Given the description of an element on the screen output the (x, y) to click on. 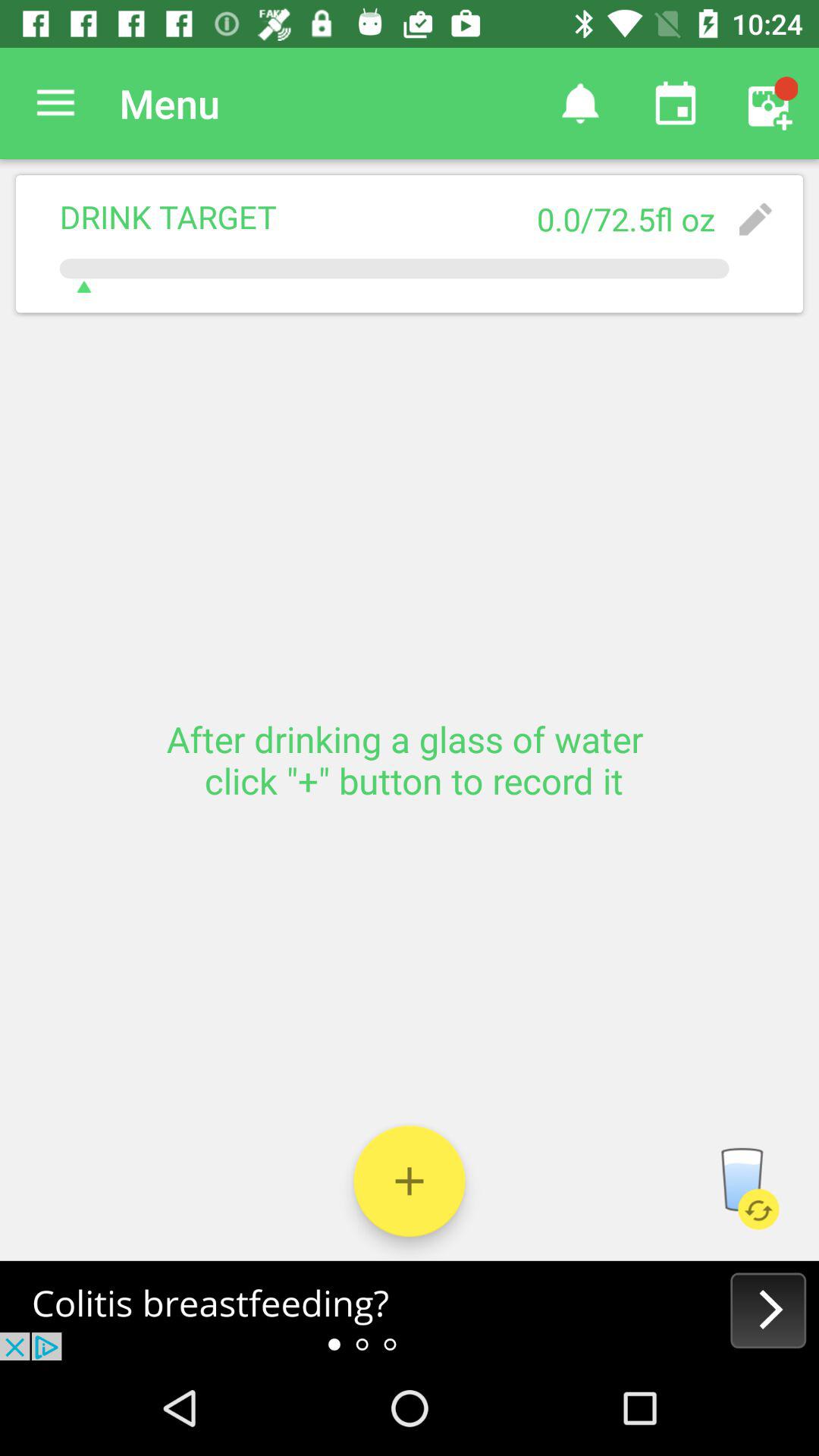
add to record (409, 1181)
